Given the description of an element on the screen output the (x, y) to click on. 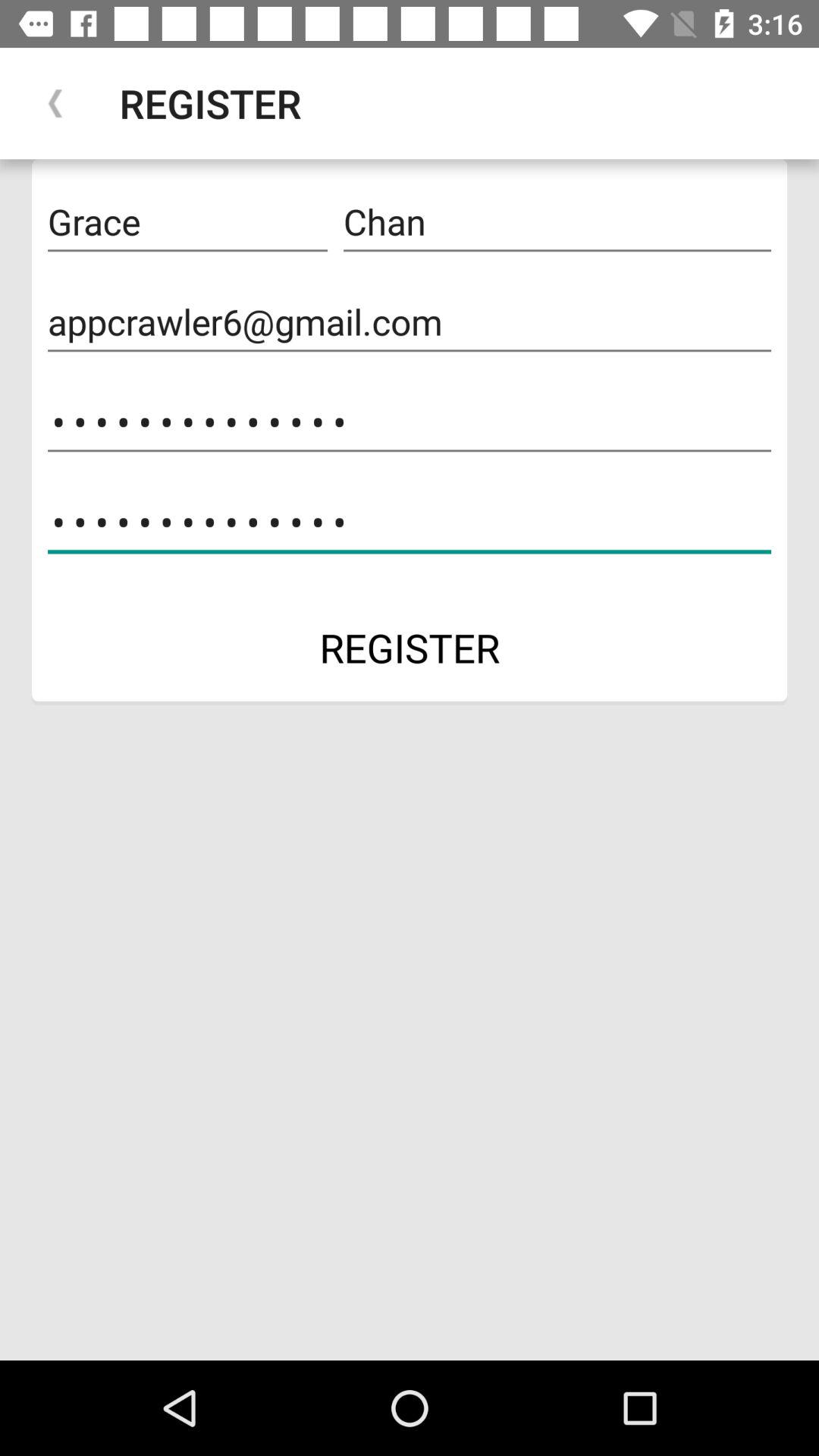
tap icon to the left of the chan (187, 222)
